Given the description of an element on the screen output the (x, y) to click on. 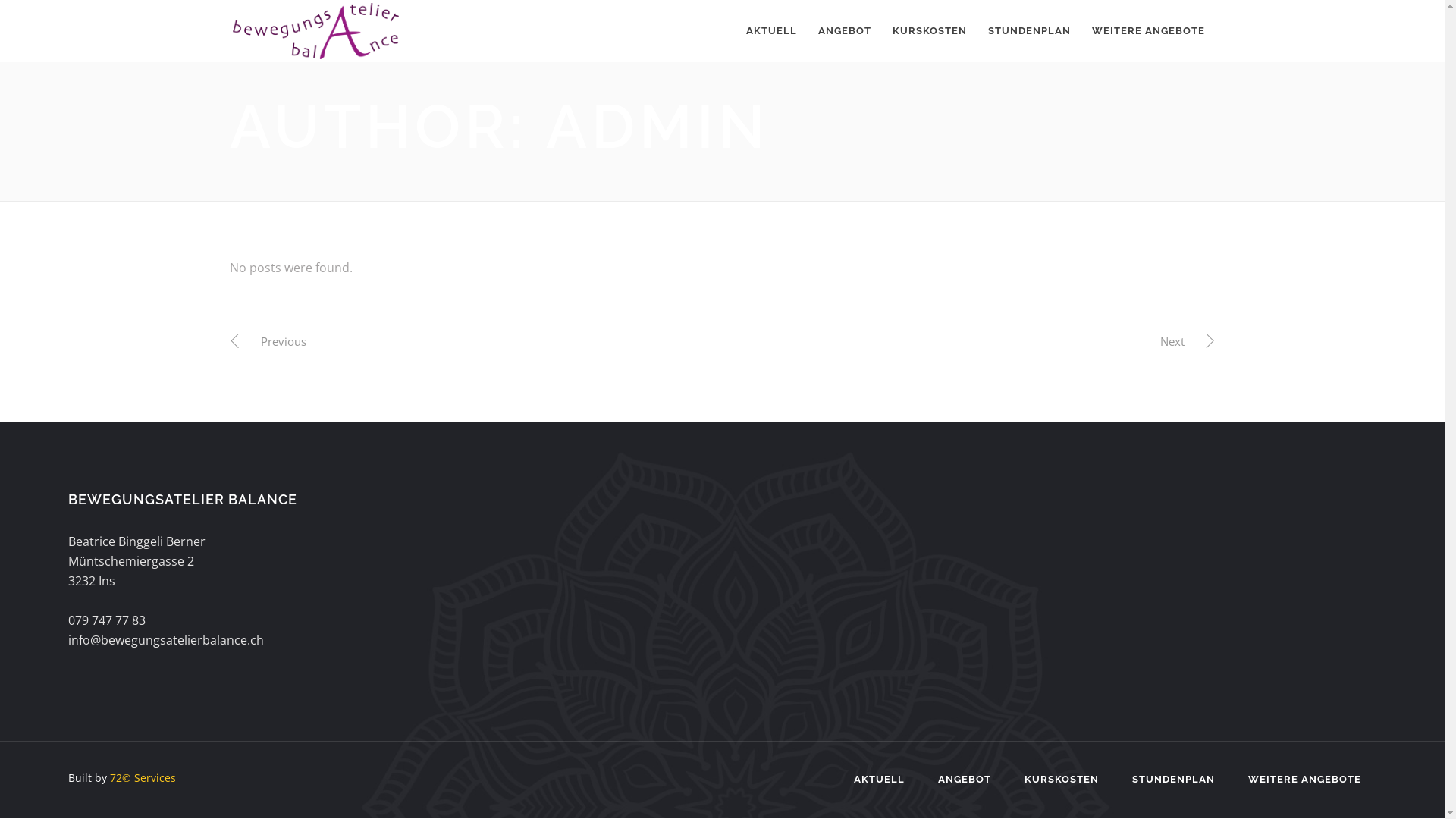
Previous Element type: text (270, 340)
STUNDENPLAN Element type: text (1173, 778)
AKTUELL Element type: text (878, 778)
Next Element type: text (1185, 340)
KURSKOSTEN Element type: text (1061, 778)
WEITERE ANGEBOTE Element type: text (1304, 778)
WEITERE ANGEBOTE Element type: text (1148, 31)
KURSKOSTEN Element type: text (928, 31)
AKTUELL Element type: text (771, 31)
ANGEBOT Element type: text (843, 31)
ANGEBOT Element type: text (964, 778)
STUNDENPLAN Element type: text (1028, 31)
